Given the description of an element on the screen output the (x, y) to click on. 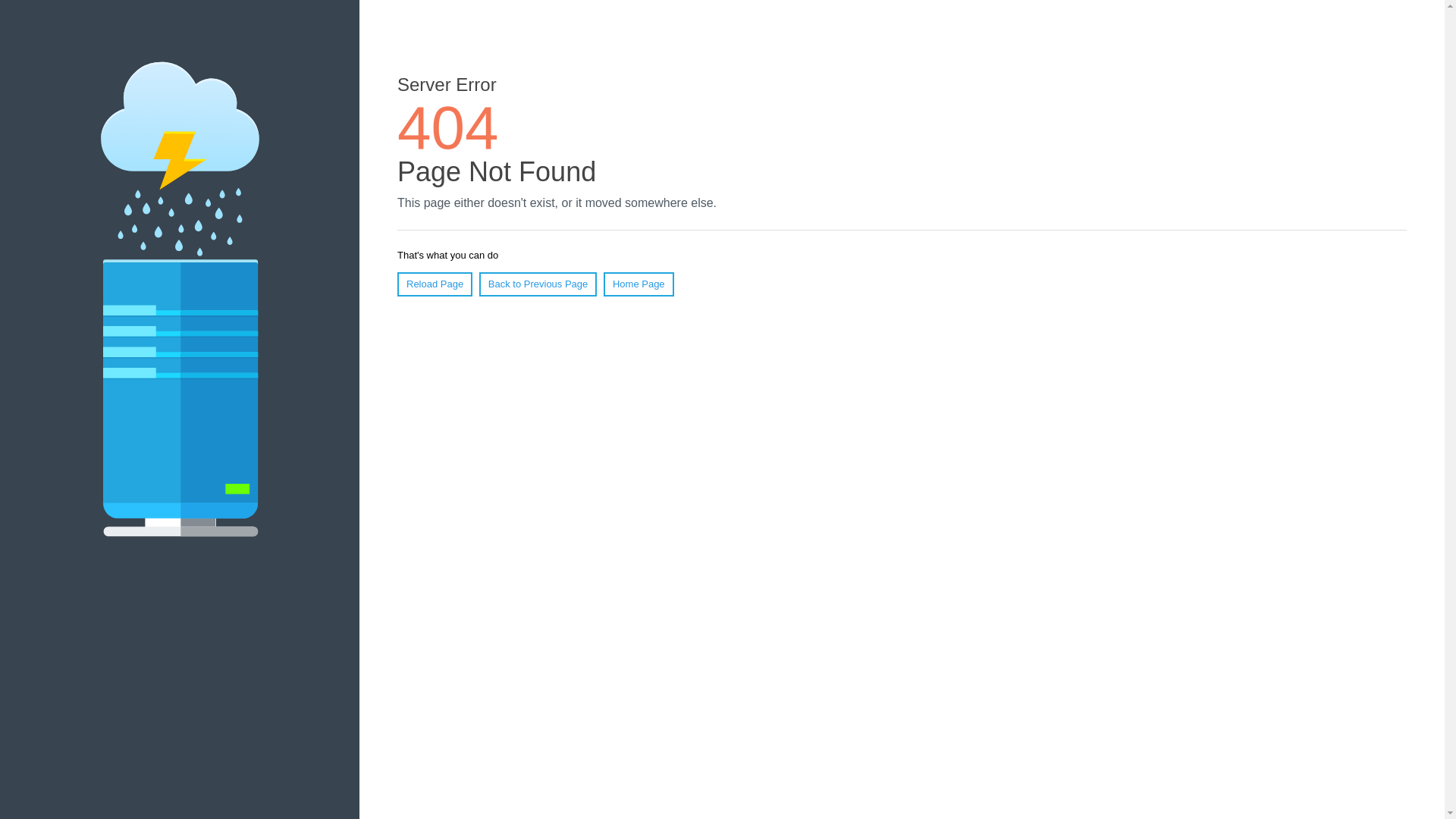
Back to Previous Page Element type: text (538, 284)
Reload Page Element type: text (434, 284)
Home Page Element type: text (638, 284)
